Given the description of an element on the screen output the (x, y) to click on. 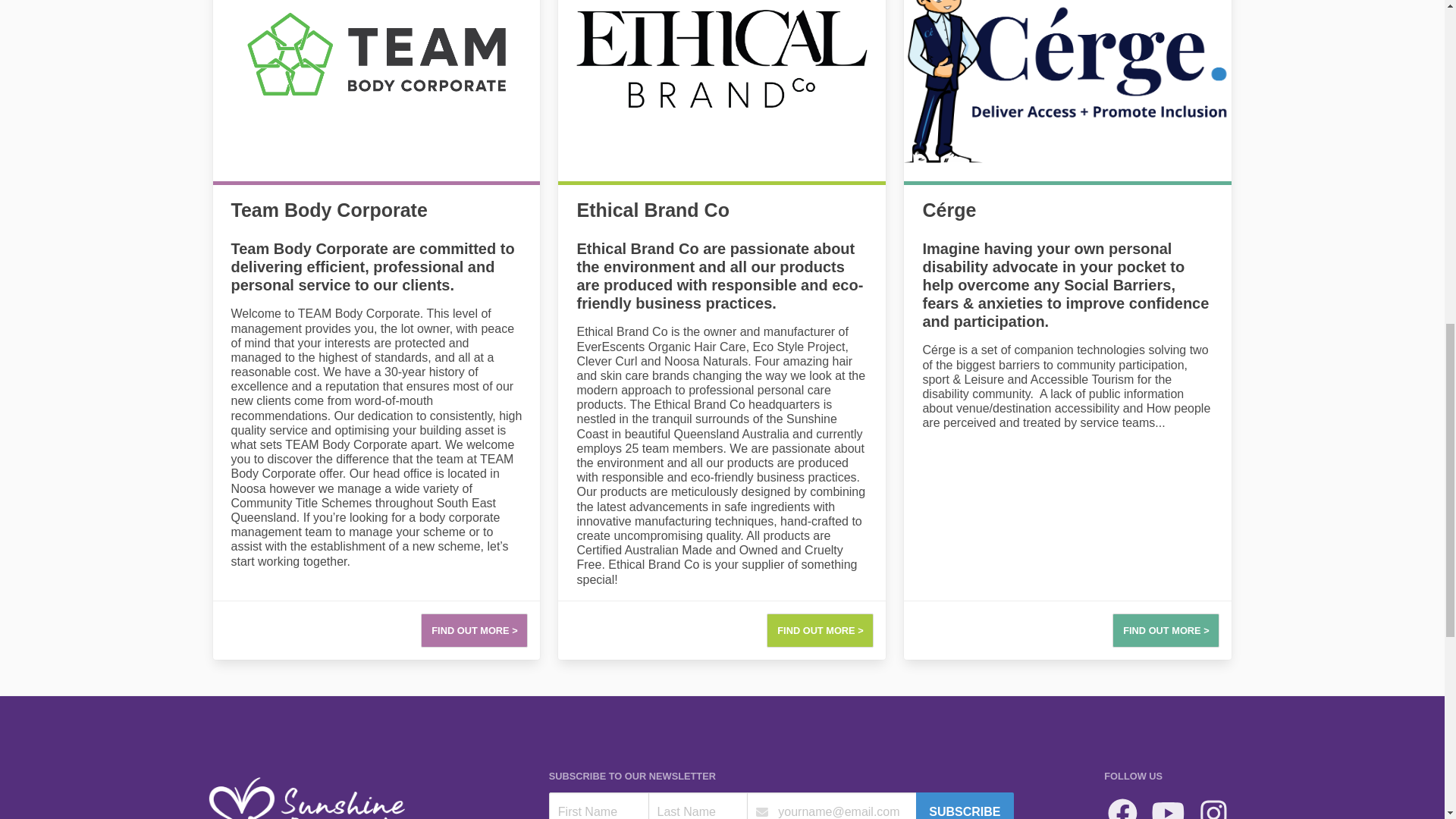
SUBSCRIBE (964, 805)
Sunshine Butterflies (314, 794)
